Given the description of an element on the screen output the (x, y) to click on. 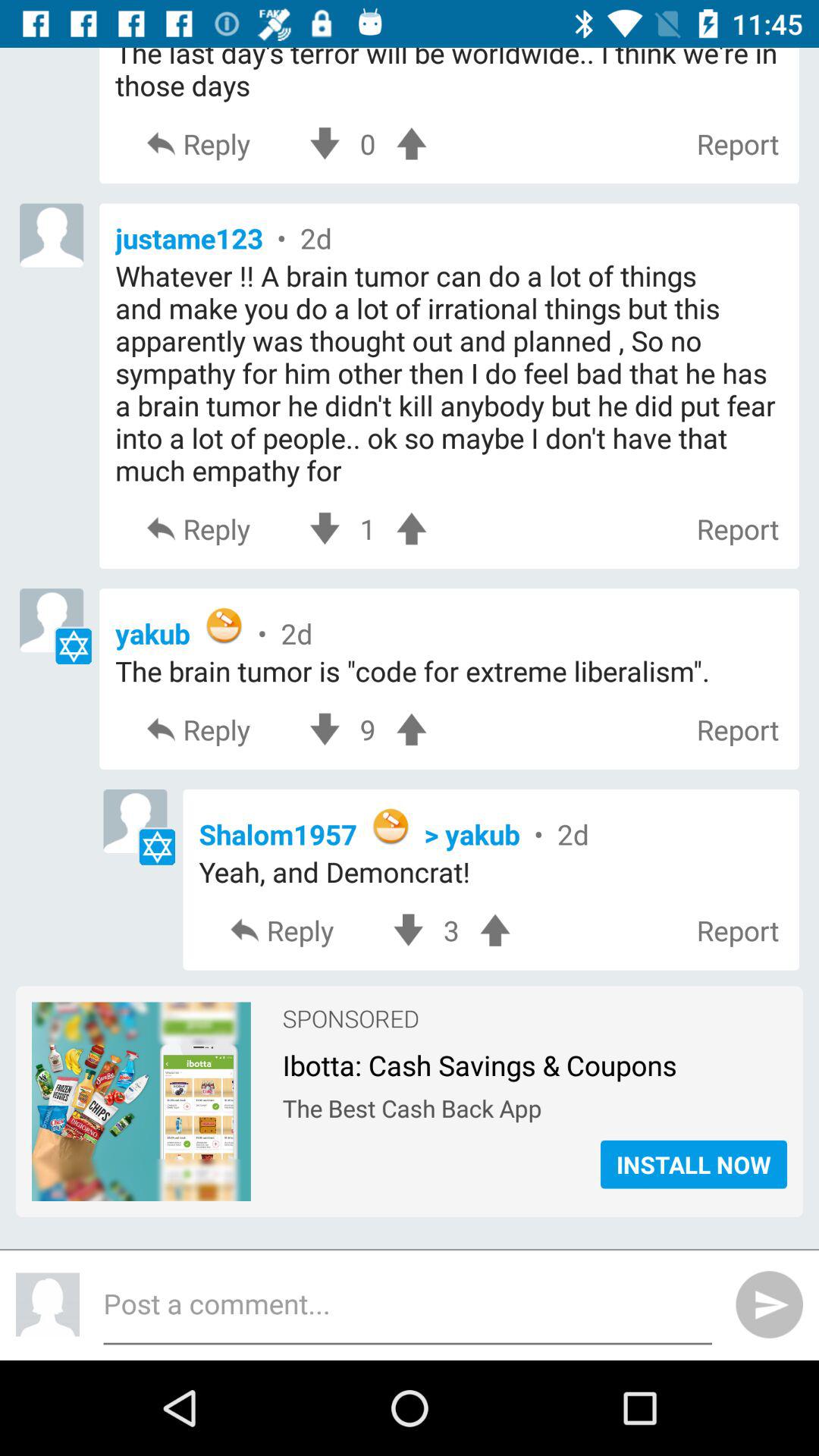
launch the item below reply item (491, 829)
